Given the description of an element on the screen output the (x, y) to click on. 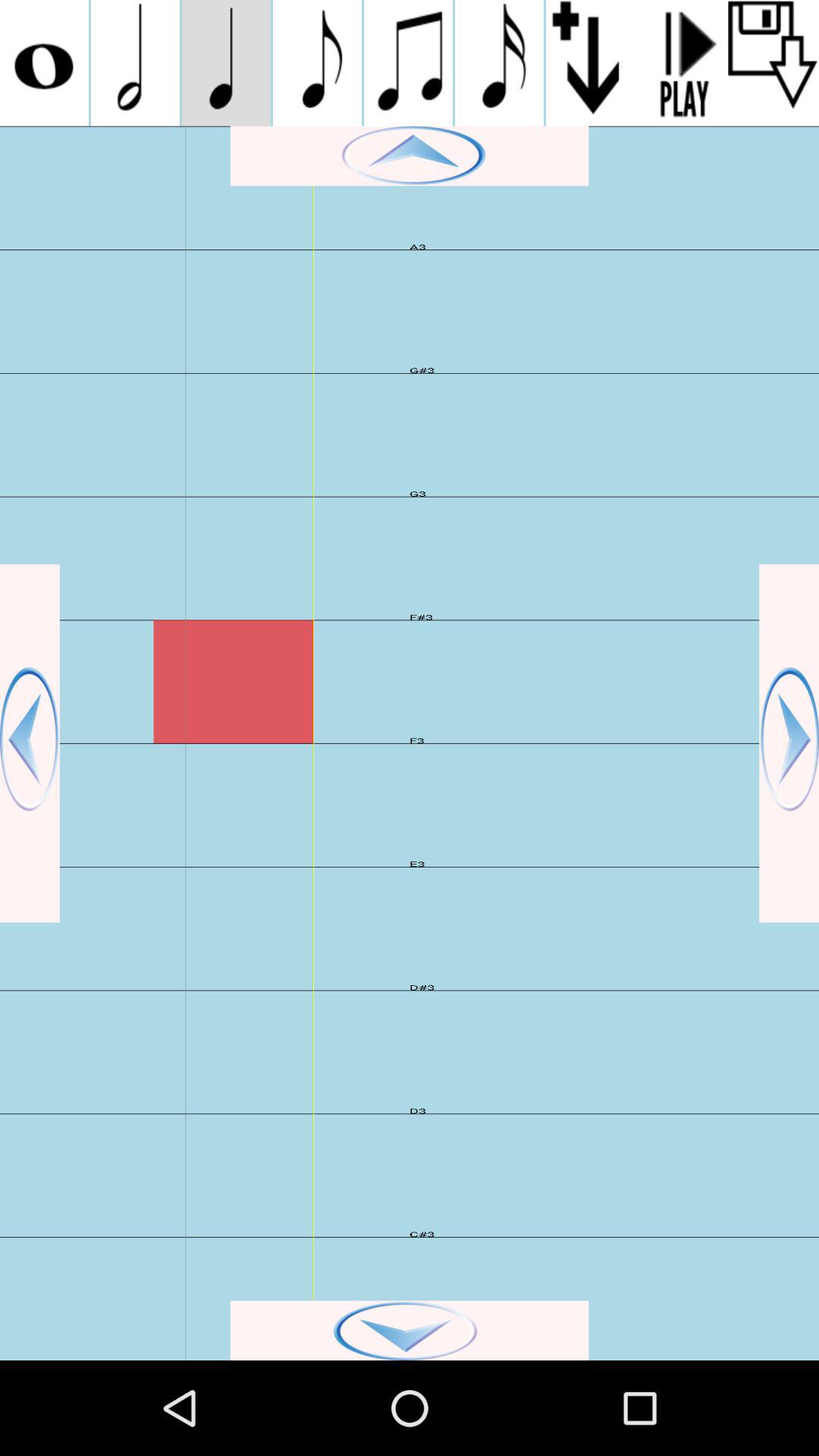
go back (29, 742)
